Given the description of an element on the screen output the (x, y) to click on. 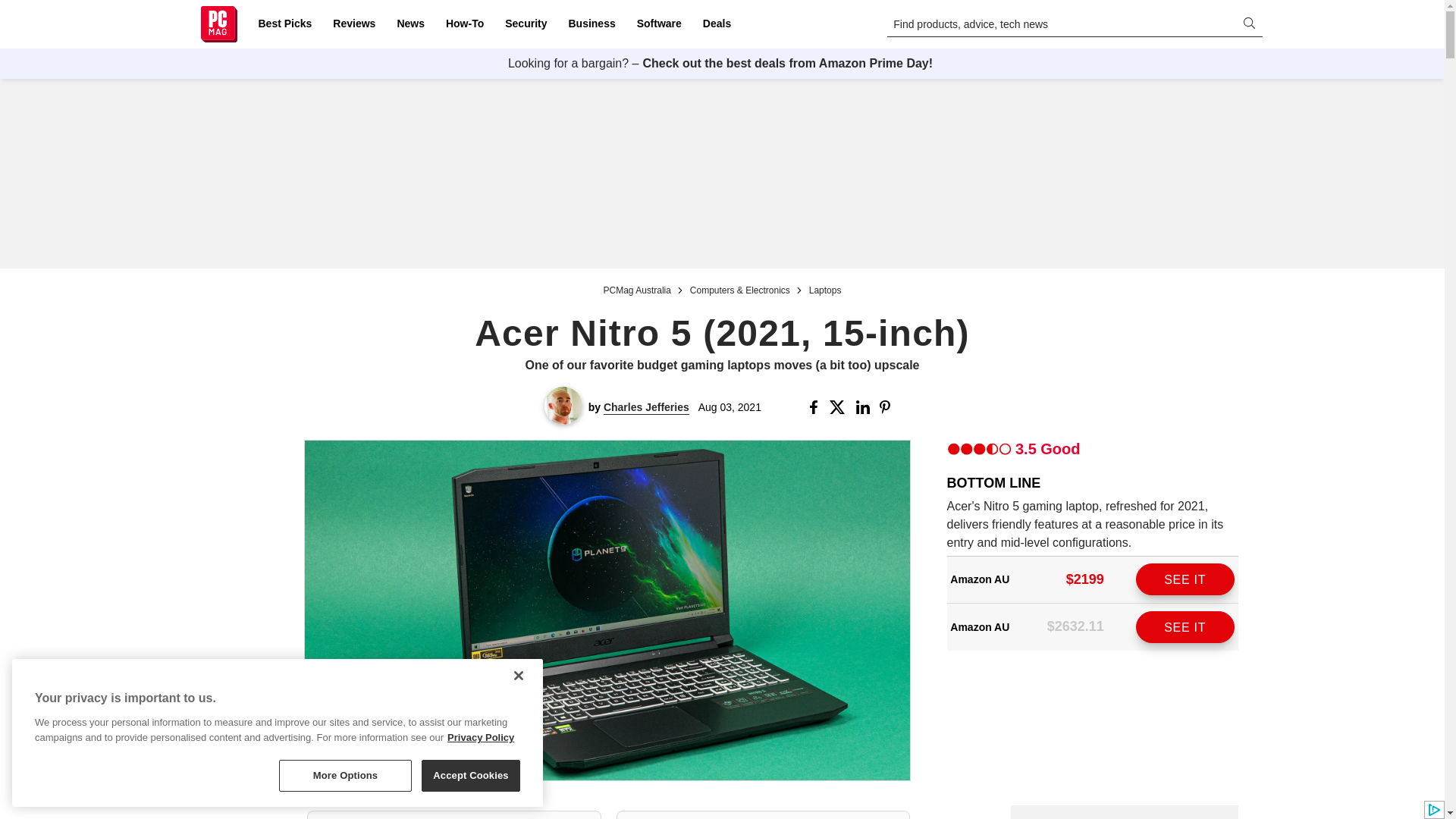
Best Picks (284, 24)
Share this Story on Pinterest (889, 407)
Business (591, 24)
Share this Story on X (839, 407)
Reviews (353, 24)
Share this Story on Linkedin (864, 407)
Security (526, 24)
How-To (464, 24)
Share this Story on Facebook (816, 407)
